Given the description of an element on the screen output the (x, y) to click on. 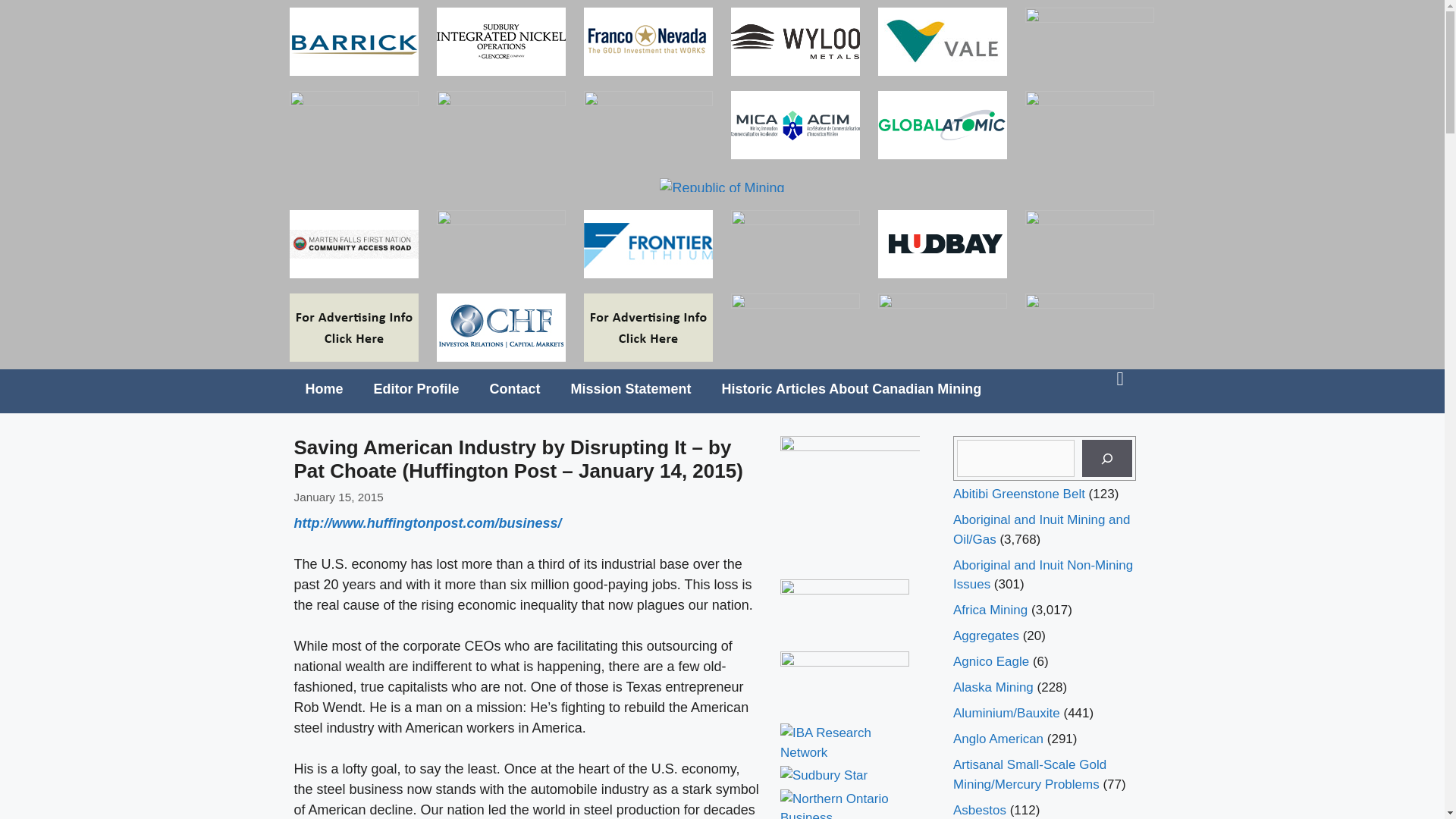
Mission Statement (631, 388)
Editor Profile (416, 388)
Home (323, 388)
Historic Articles About Canadian Mining (851, 388)
Contact (515, 388)
